Given the description of an element on the screen output the (x, y) to click on. 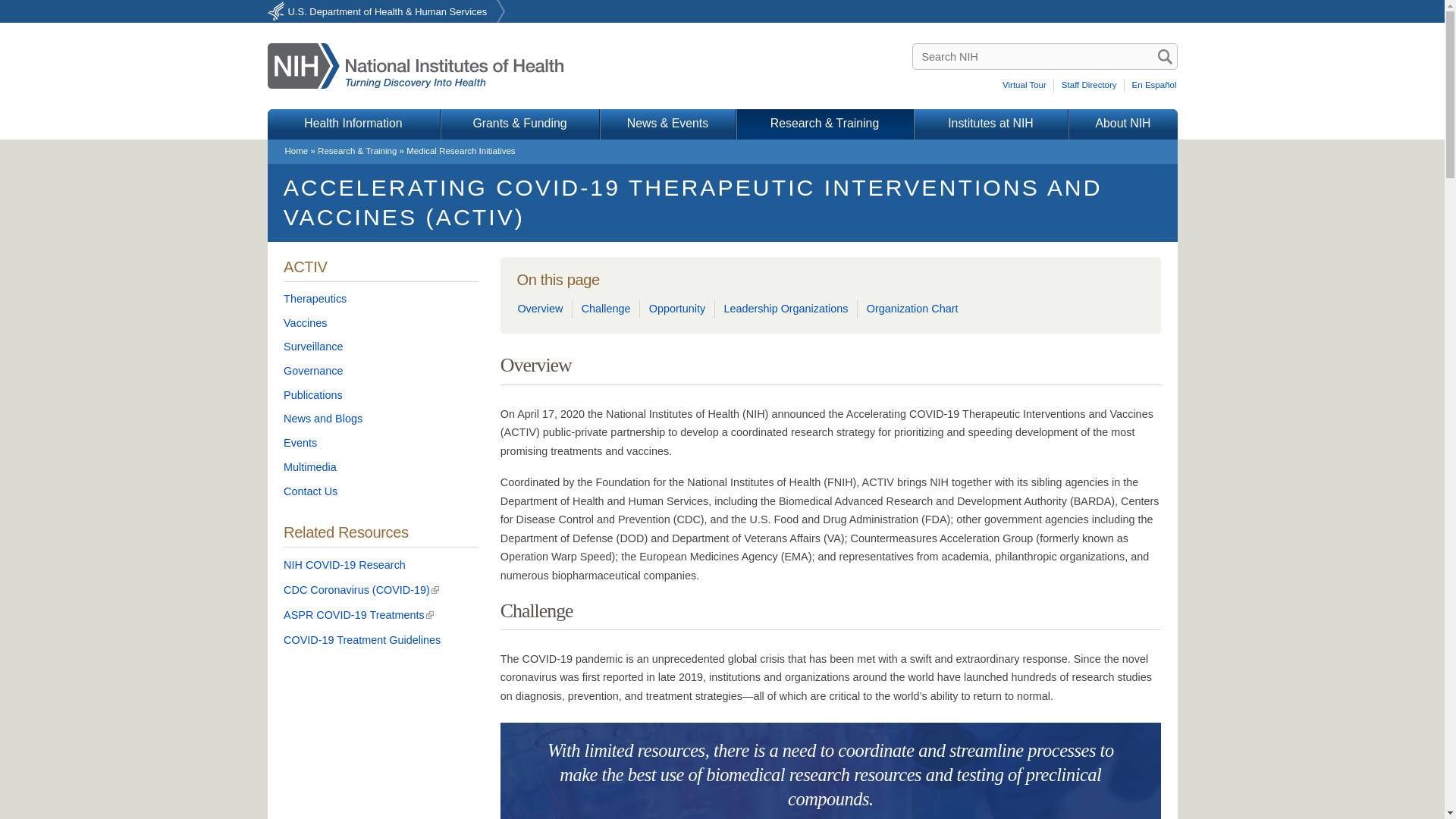
Search (1164, 56)
Virtual Tour (1026, 84)
Search (1164, 56)
Staff Directory (1091, 84)
Search (1164, 56)
Health Information (352, 123)
